Given the description of an element on the screen output the (x, y) to click on. 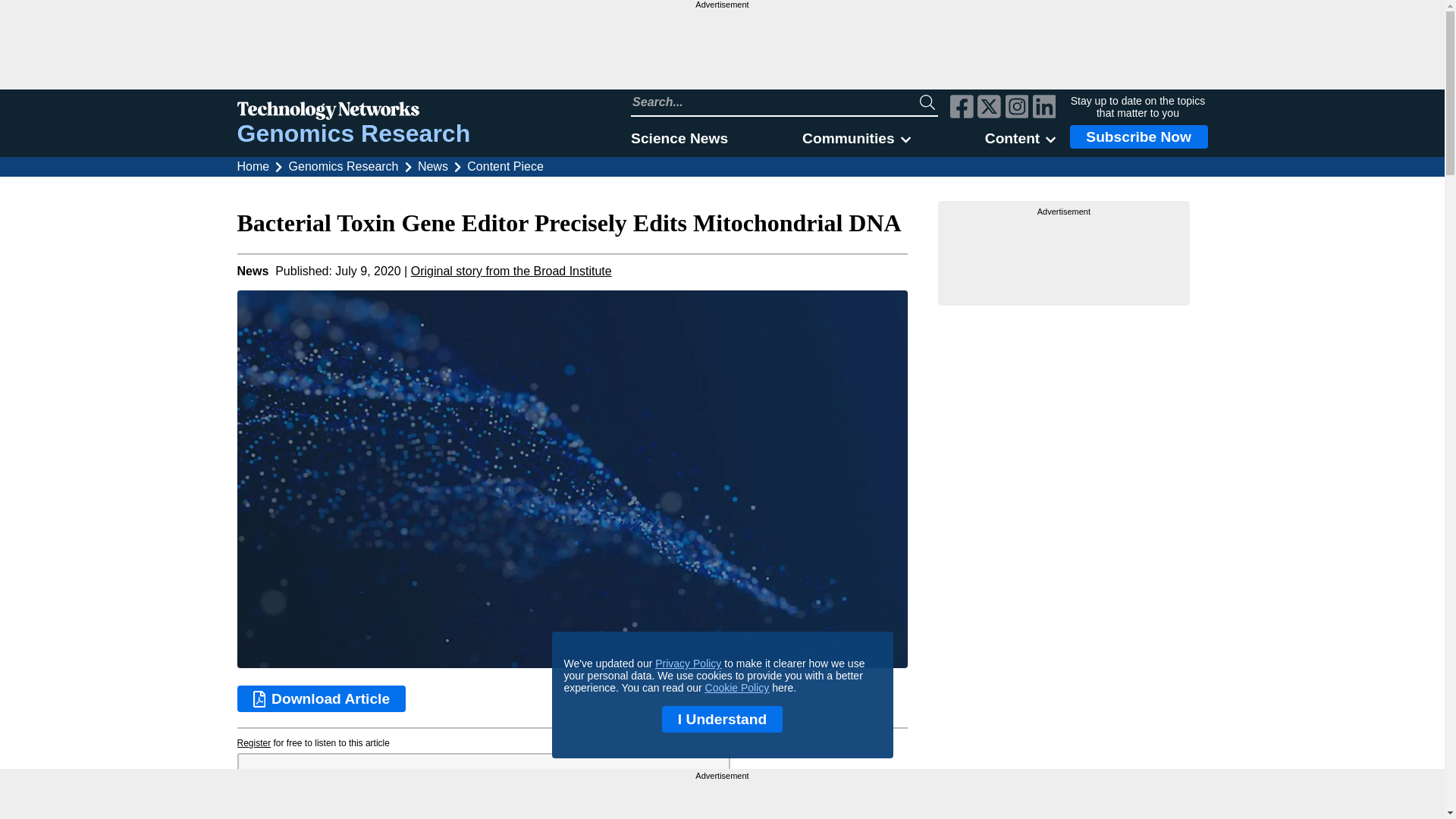
Click here to visit the original source for this content. (510, 270)
Cookie Policy (737, 687)
Privacy Policy (687, 663)
Search Technology Networks website input field (775, 102)
I Understand (722, 718)
Technology Networks logo (352, 112)
